Given the description of an element on the screen output the (x, y) to click on. 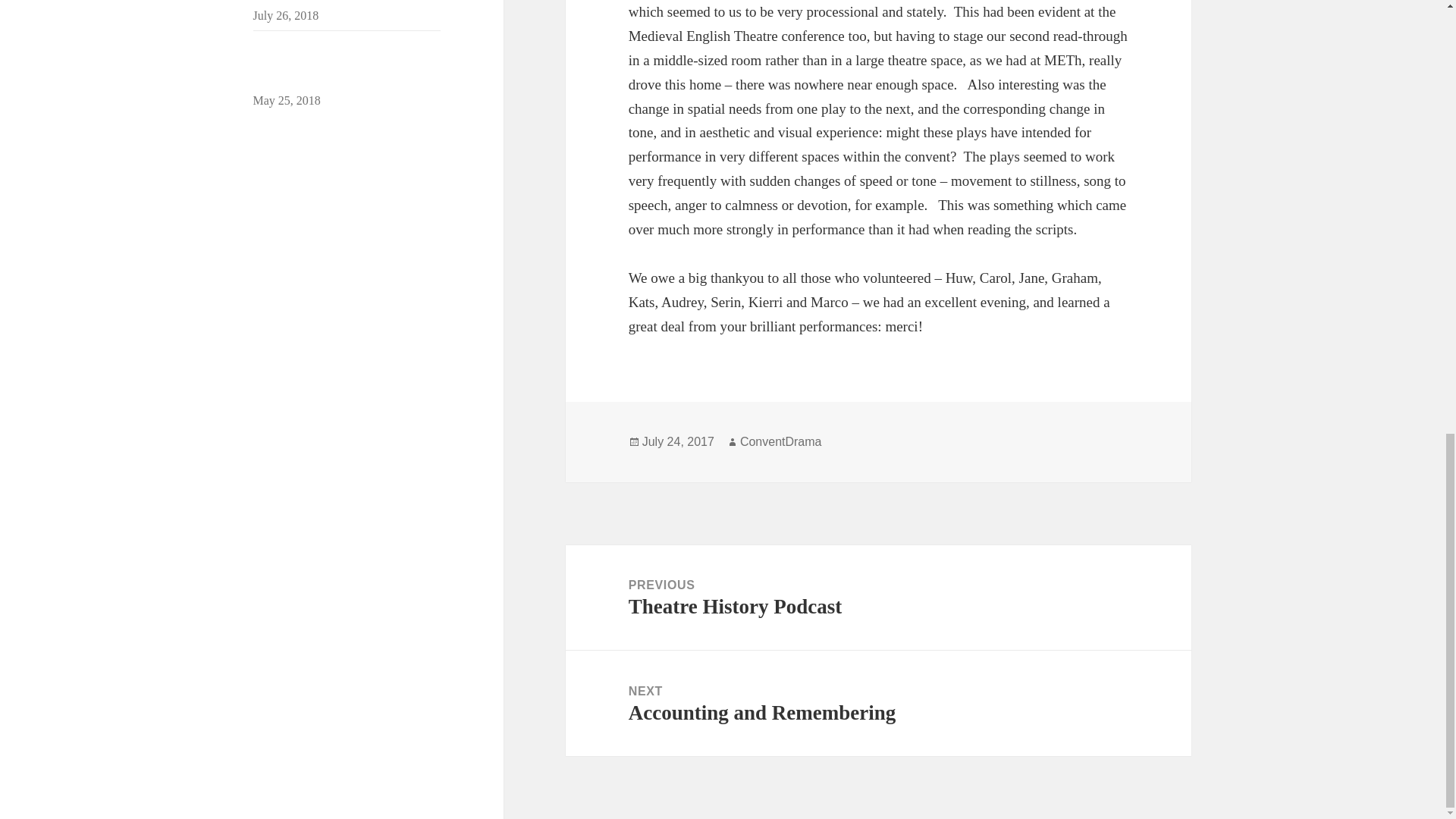
ConventDrama (780, 441)
July 24, 2017 (878, 702)
